Given the description of an element on the screen output the (x, y) to click on. 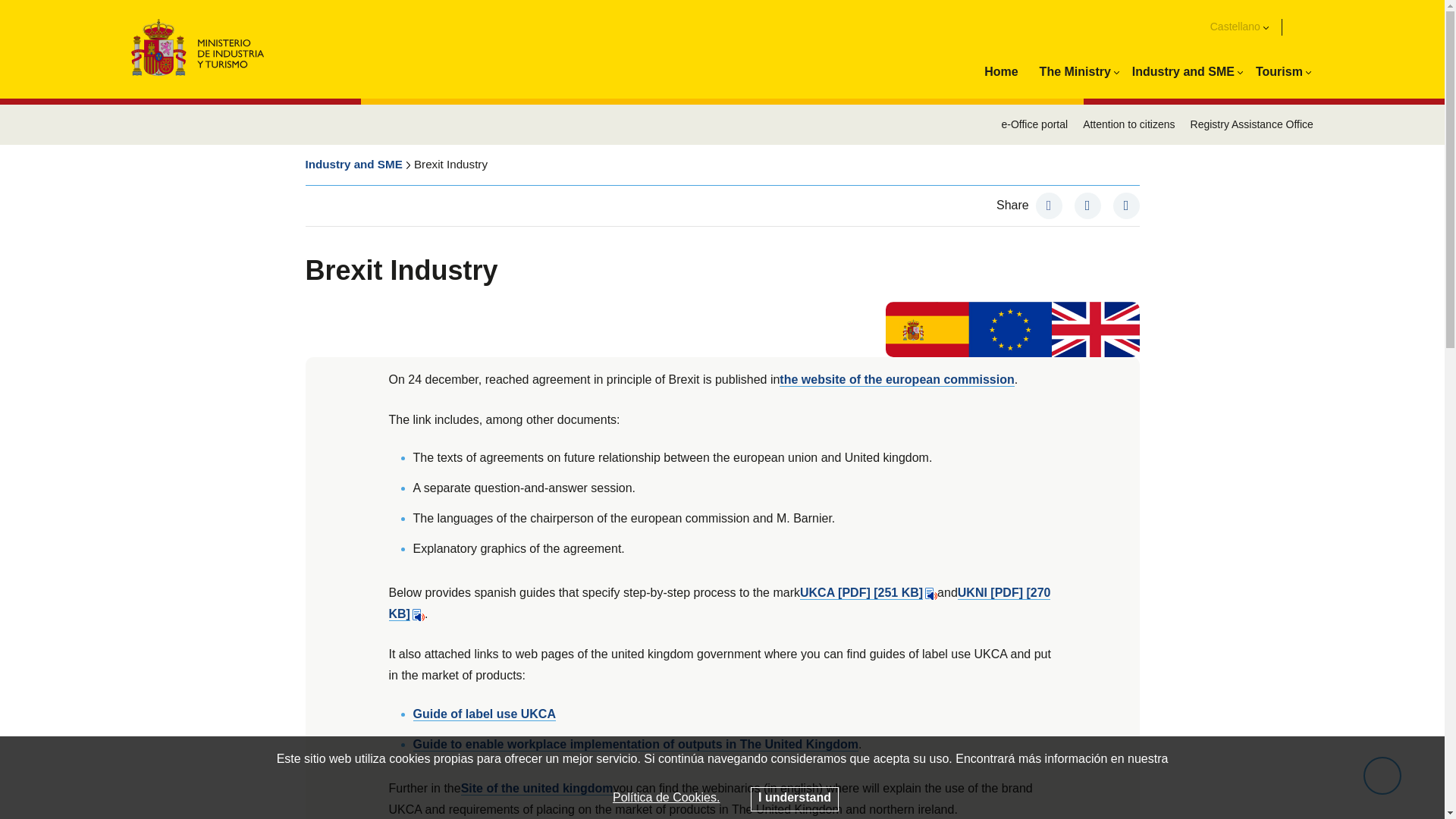
Subir arriba (1381, 775)
Opens a new window (861, 592)
The Ministry (1074, 73)
Open in new window (895, 379)
Opens in a new window (1048, 205)
Opens in a new window (1126, 205)
Castellano (1245, 27)
Opens in a new window (1087, 205)
Open this document with ReadSpeaker docReader (930, 593)
Home (1000, 73)
